Given the description of an element on the screen output the (x, y) to click on. 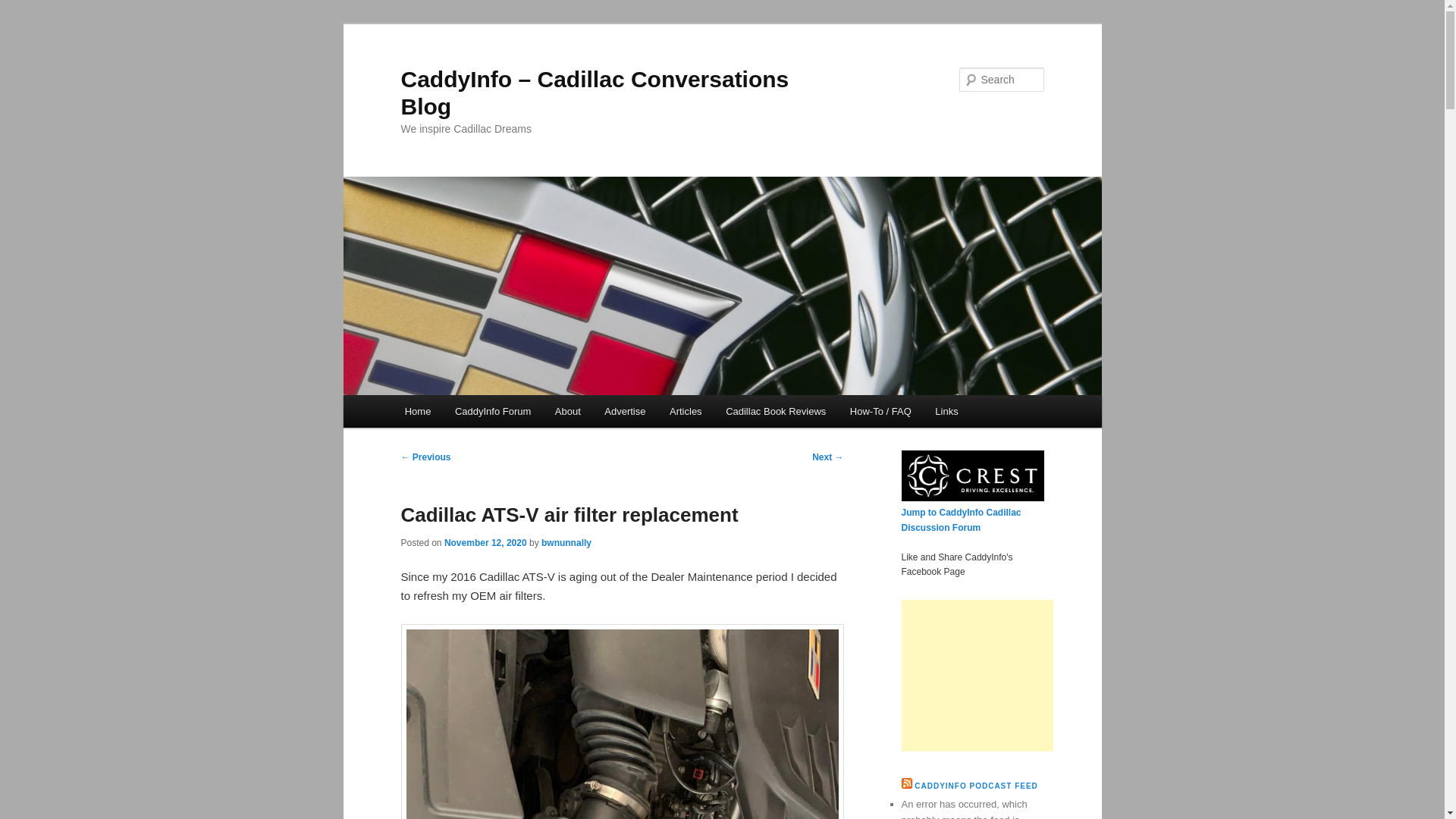
Cadillac Book Reviews (775, 410)
About (567, 410)
Articles (685, 410)
Advertisement (976, 675)
Home (417, 410)
3:48 pm (485, 542)
Advertise (625, 410)
Links (947, 410)
November 12, 2020 (485, 542)
